Given the description of an element on the screen output the (x, y) to click on. 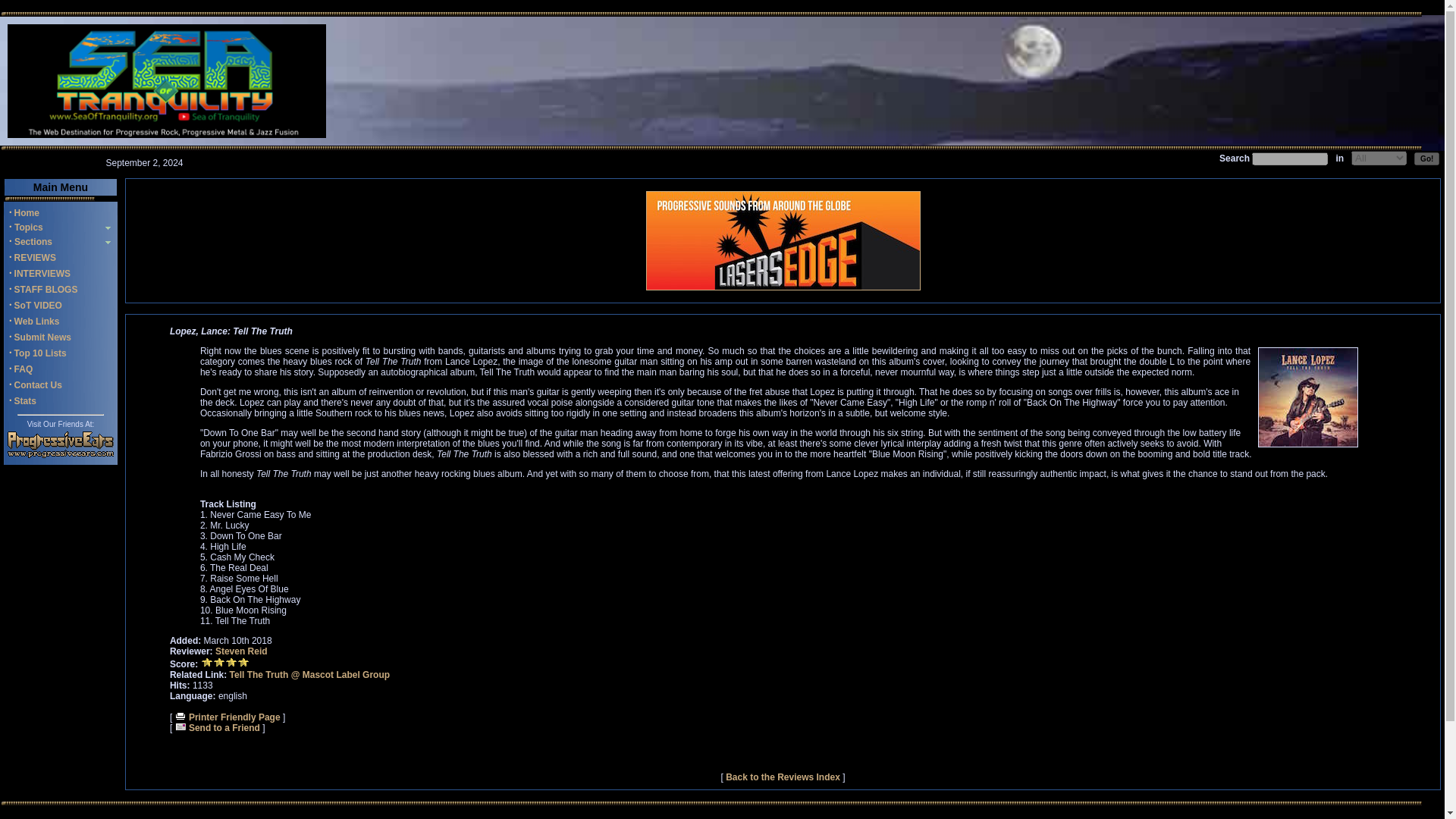
Stats (25, 400)
Go! (1426, 158)
Steven Reid (241, 651)
SoT VIDEO (38, 305)
Web Links (36, 321)
Send to a Friend (217, 727)
Printer Friendly Page (227, 716)
Back to the Reviews Index (782, 777)
Home (26, 213)
FAQ (23, 368)
